Given the description of an element on the screen output the (x, y) to click on. 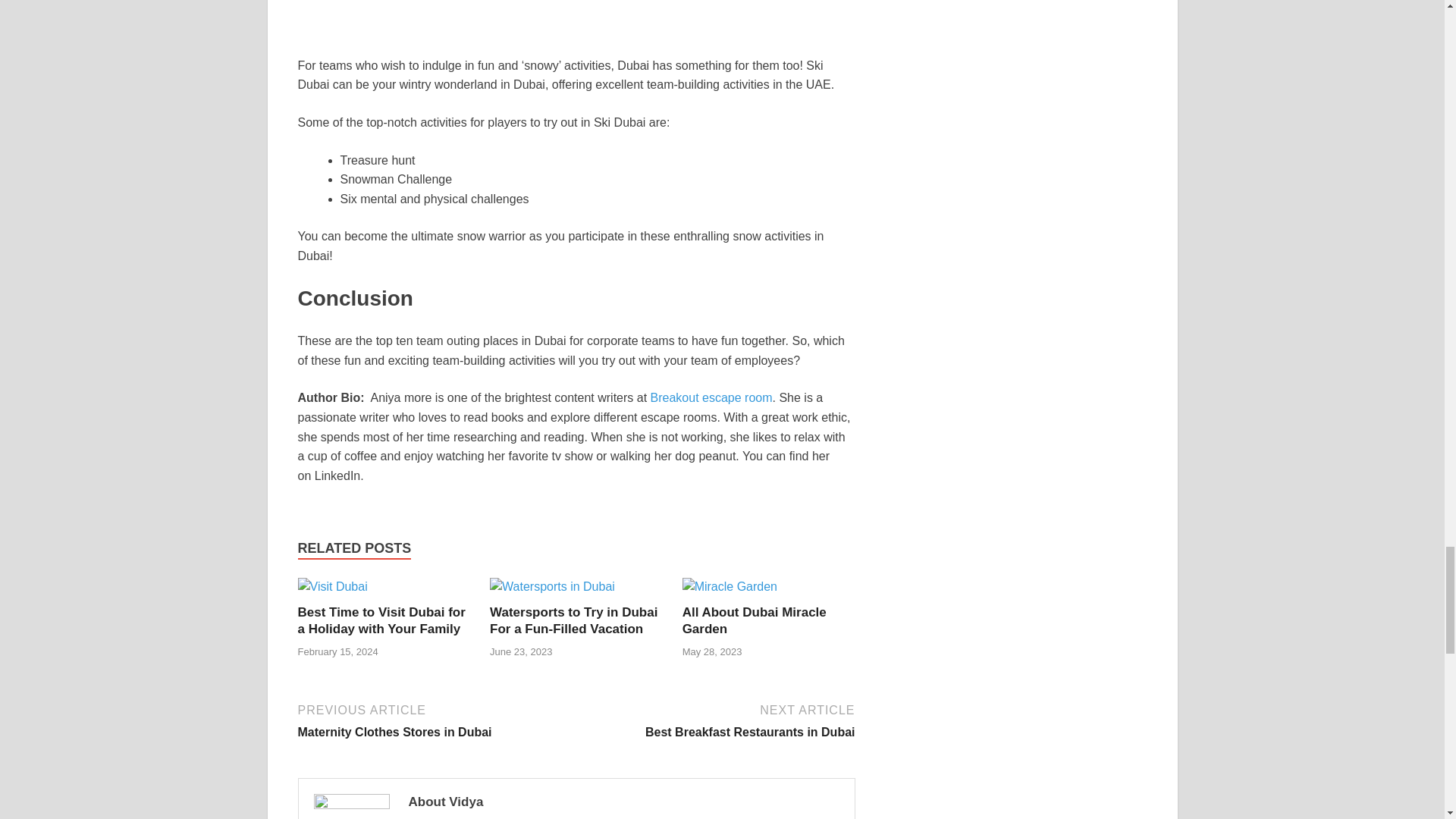
Watersports to Try in Dubai For a Fun-Filled Vacation (573, 620)
Breakout escape room (711, 397)
All About Dubai Miracle Garden (717, 719)
All About Dubai Miracle Garden (754, 620)
Best Time to Visit Dubai for a Holiday with Your Family (754, 620)
All About Dubai Miracle Garden (380, 620)
Best Time to Visit Dubai for a Holiday with Your Family (729, 585)
Best Time to Visit Dubai for a Holiday with Your Family (380, 620)
Watersports to Try in Dubai For a Fun-Filled Vacation (331, 585)
Watersports to Try in Dubai For a Fun-Filled Vacation (434, 719)
